Given the description of an element on the screen output the (x, y) to click on. 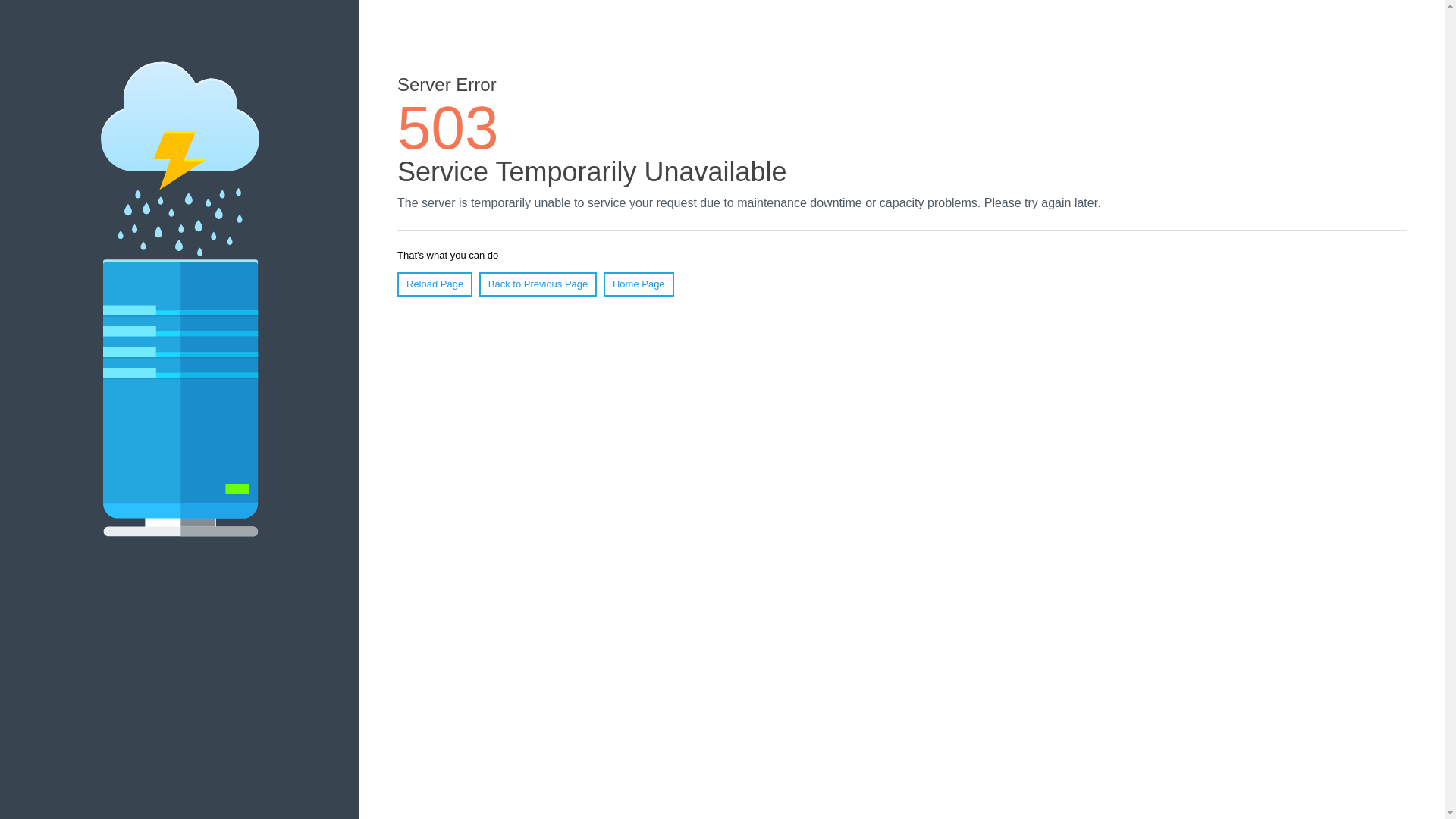
Back to Previous Page (537, 283)
Home Page (639, 283)
Reload Page (434, 283)
